Given the description of an element on the screen output the (x, y) to click on. 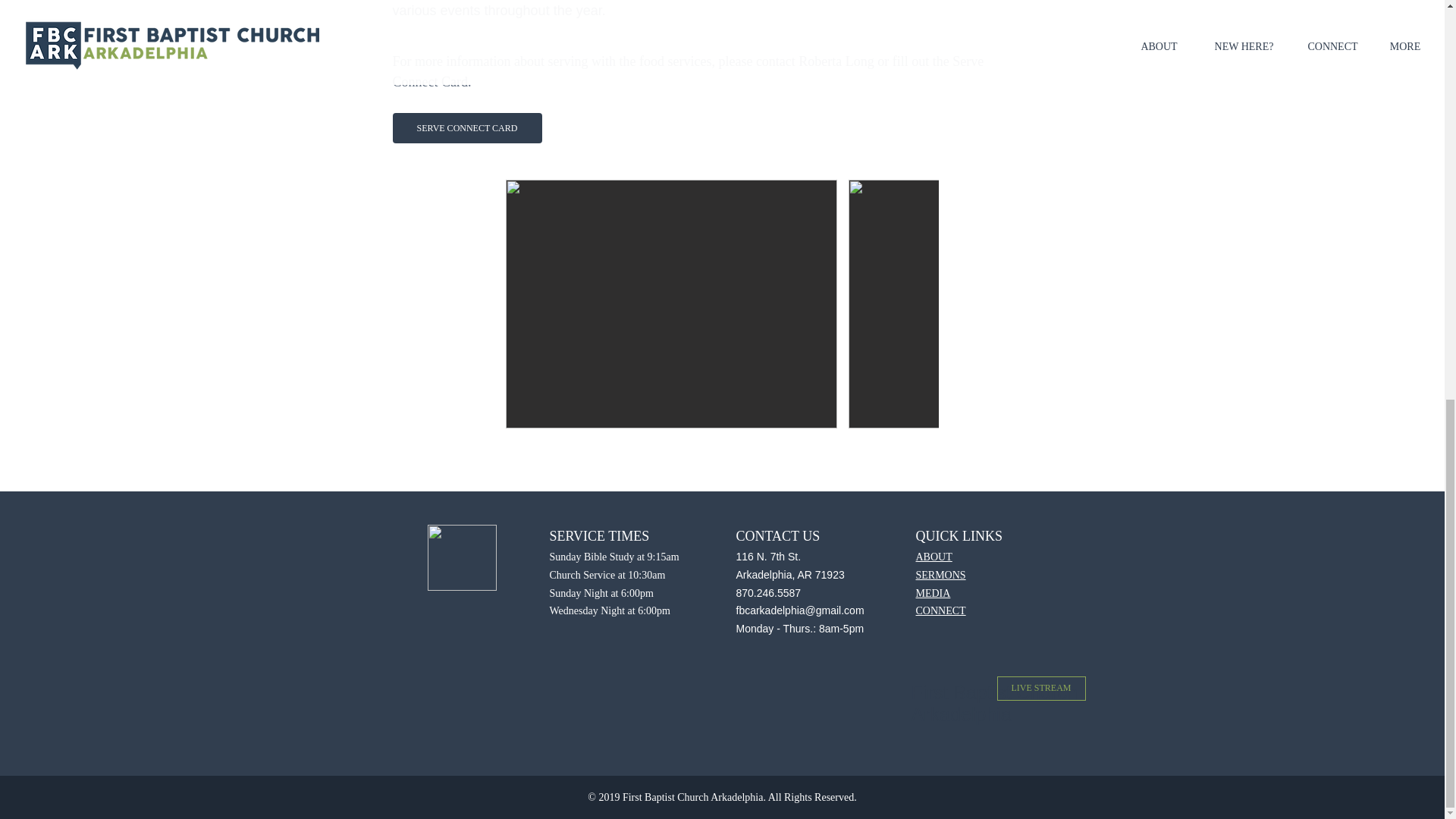
SERMONS (940, 574)
SERVE CONNECT CARD (467, 128)
870.246.5587 (767, 592)
ABOUT (933, 556)
Arkadelphia, AR 71923 (789, 574)
LIVE STREAM (1039, 688)
CONNECT (940, 610)
116 N. 7th St. (767, 556)
MEDIA (932, 592)
